Given the description of an element on the screen output the (x, y) to click on. 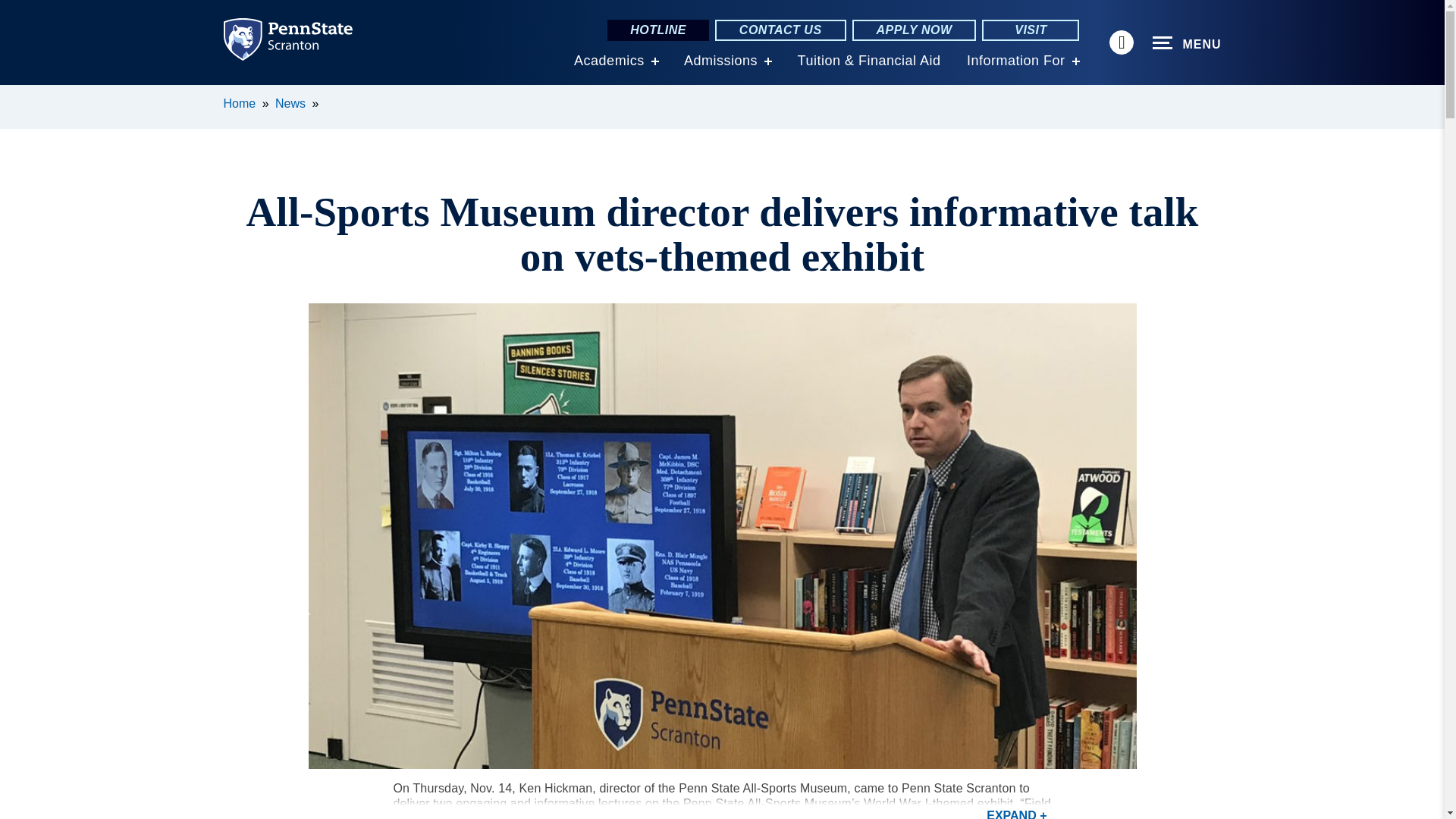
APPLY NOW (913, 29)
Admissions (720, 60)
HOTLINE (658, 29)
CONTACT US (779, 29)
Information For (1015, 60)
SKIP TO MAIN CONTENT (19, 95)
Academics (609, 60)
VISIT (1029, 29)
MENU (1187, 43)
